Given the description of an element on the screen output the (x, y) to click on. 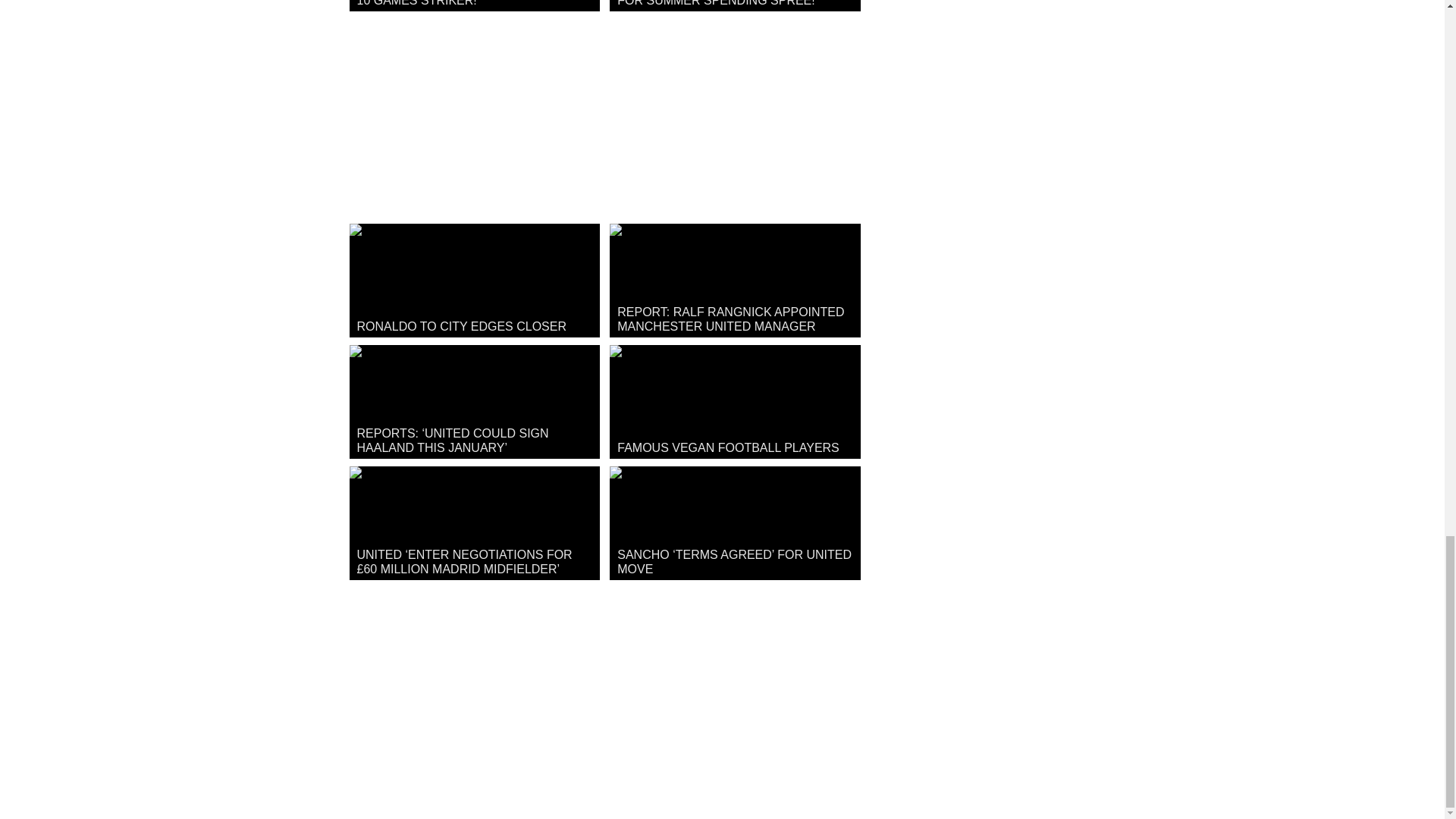
UNITED IN RACE TO SIGN 9 GOALS IN 10 GAMES STRIKER! (473, 5)
REPORT: RALF RANGNICK APPOINTED MANCHESTER UNITED MANAGER (735, 280)
FAMOUS VEGAN FOOTBALL PLAYERS  (735, 401)
FIVE NEW SIGNINGS! TEN HAG SET FOR SUMMER SPENDING SPREE! (735, 5)
RONALDO TO CITY EDGES CLOSER (473, 280)
